Given the description of an element on the screen output the (x, y) to click on. 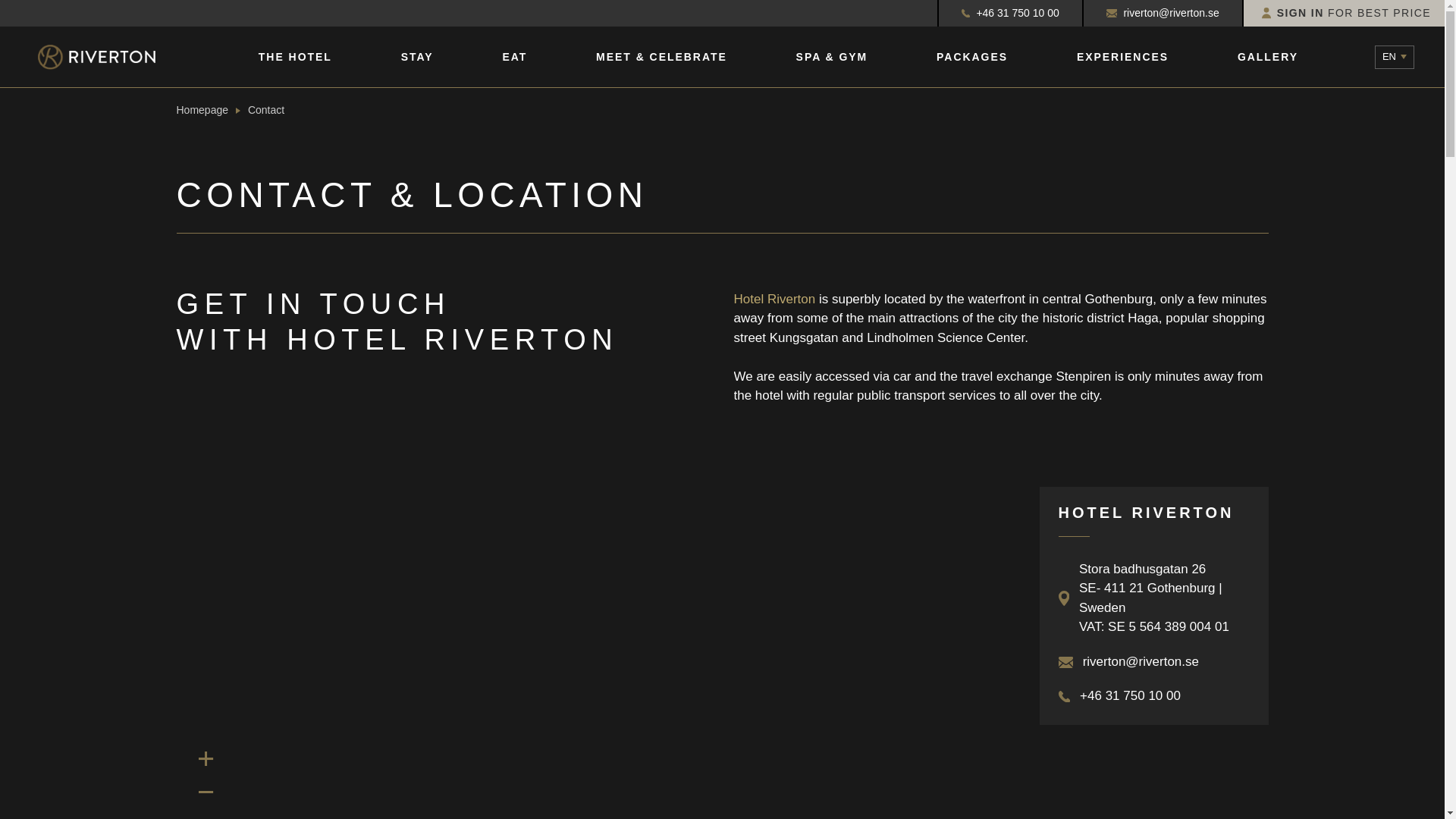
PACKAGES (971, 57)
EAT (514, 57)
STAY (417, 57)
THE HOTEL (295, 57)
EN (1393, 56)
EXPERIENCES (1123, 57)
GALLERY (1267, 57)
